Given the description of an element on the screen output the (x, y) to click on. 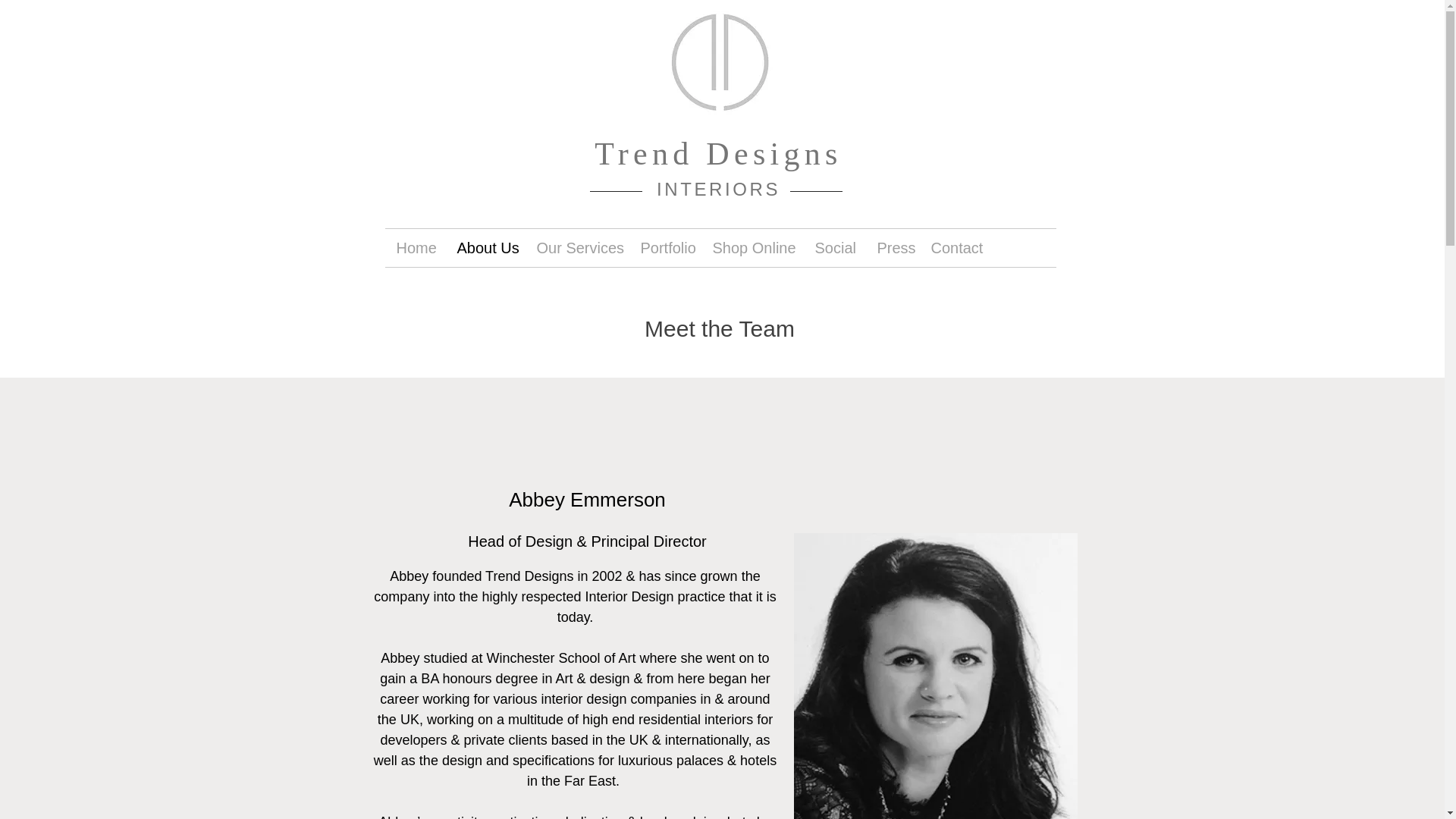
About Us (485, 247)
Press (893, 247)
Social (834, 247)
Contact (954, 247)
Shop Online (751, 247)
Our Services (576, 247)
Portfolio (664, 247)
Home (415, 247)
